Given the description of an element on the screen output the (x, y) to click on. 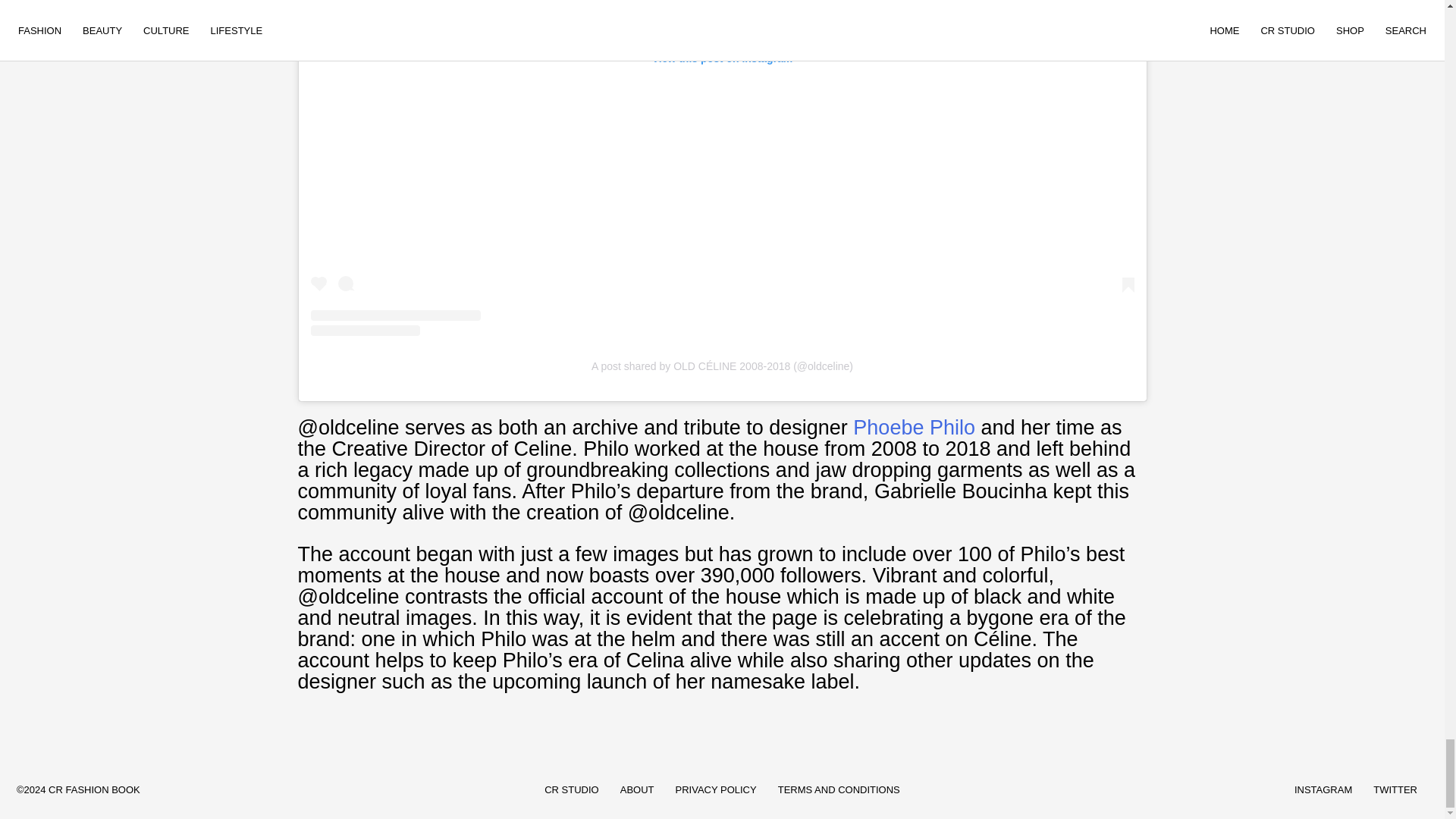
TERMS AND CONDITIONS (839, 789)
PRIVACY POLICY (716, 789)
Phoebe Philo (914, 427)
CR STUDIO (572, 789)
INSTAGRAM (1323, 789)
ABOUT (637, 789)
TWITTER (1395, 789)
